Given the description of an element on the screen output the (x, y) to click on. 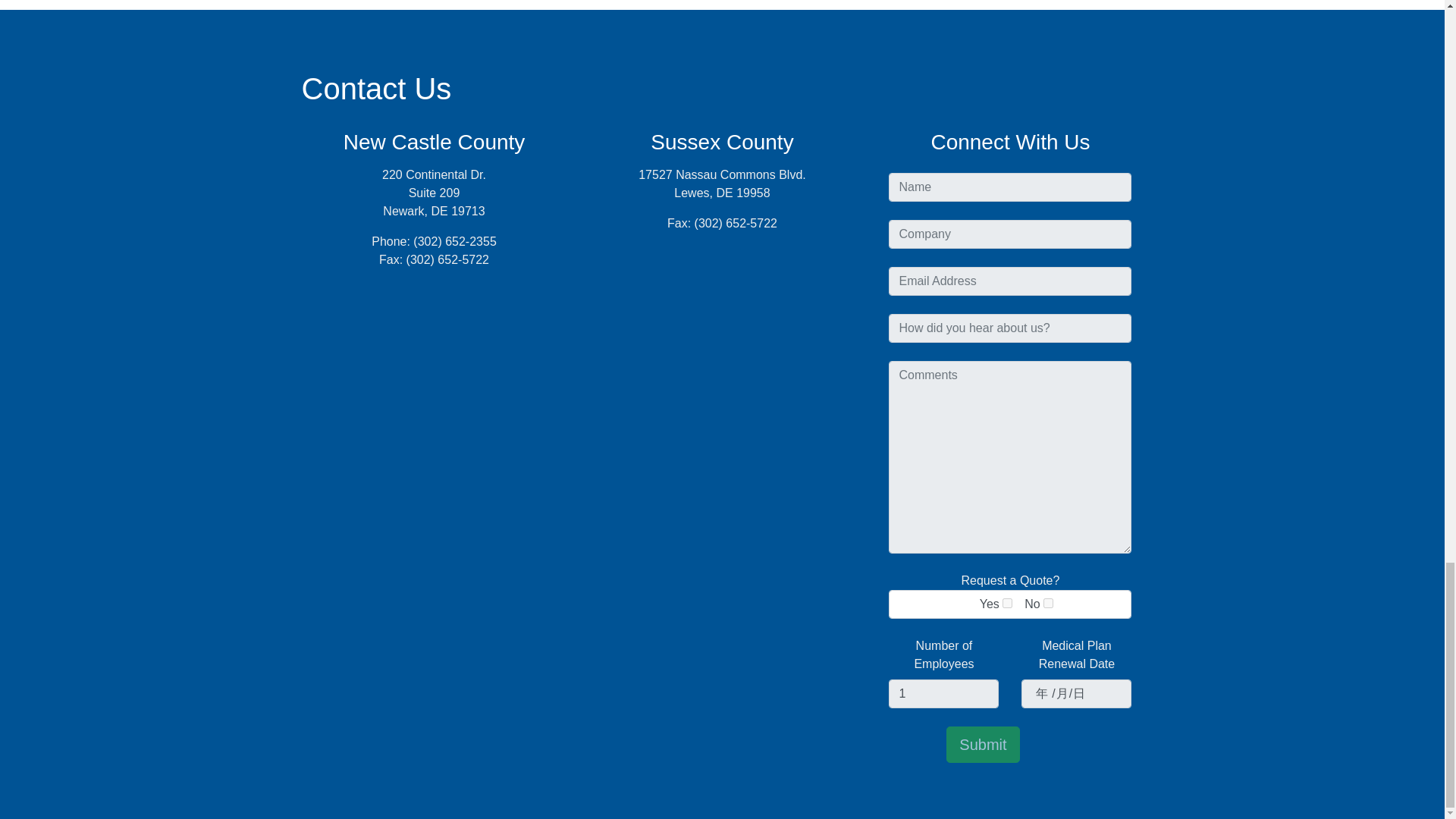
1 (943, 693)
Submit (982, 744)
No (1047, 603)
Submit (982, 744)
Yes (1007, 603)
